Given the description of an element on the screen output the (x, y) to click on. 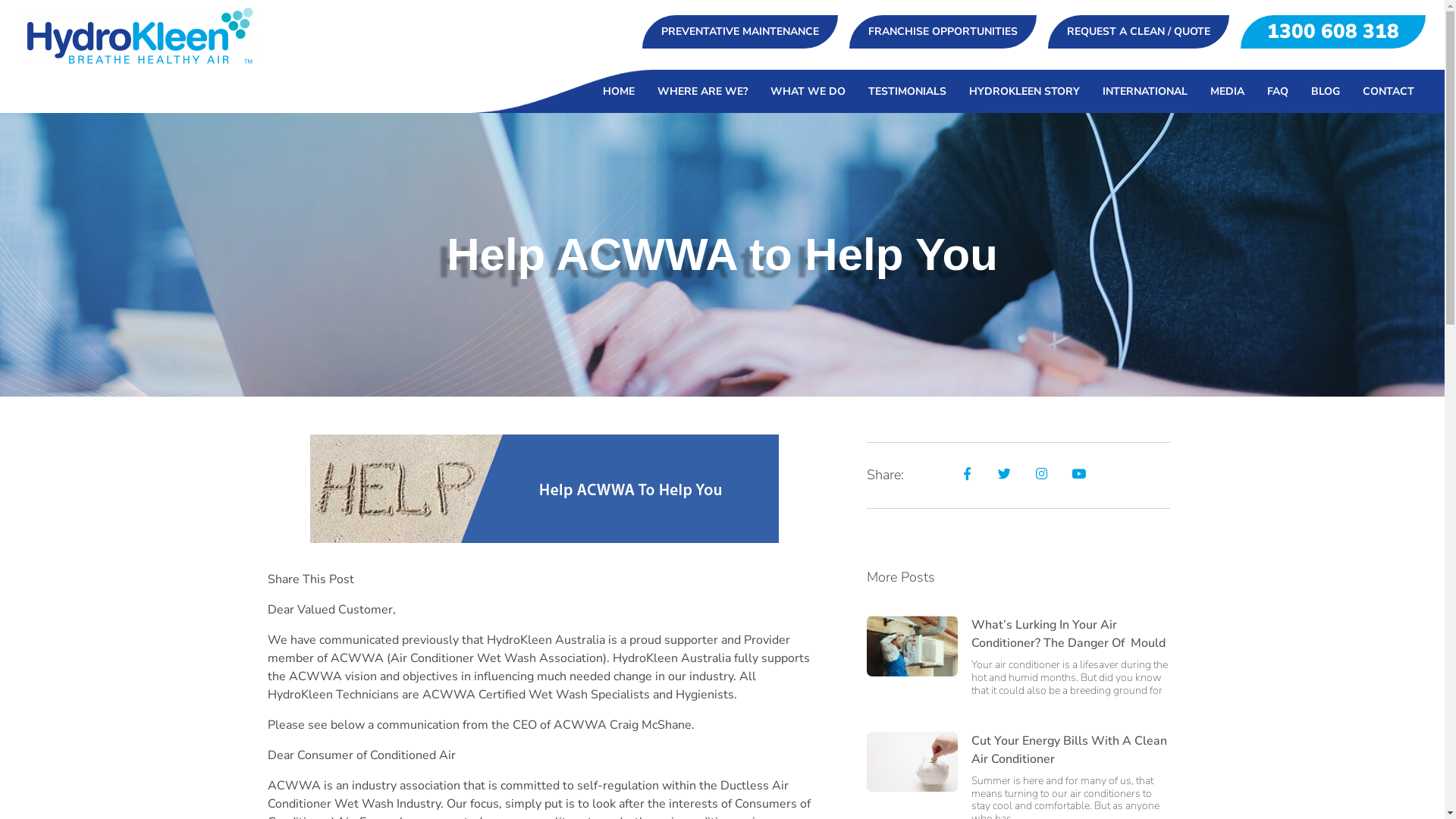
HOME Element type: text (618, 91)
FRANCHISE OPPORTUNITIES Element type: text (942, 31)
REQUEST A CLEAN / QUOTE Element type: text (1138, 31)
INTERNATIONAL Element type: text (1144, 91)
Cut Your Energy Bills With A Clean Air Conditioner Element type: text (1068, 749)
WHAT WE DO Element type: text (807, 91)
CONTACT Element type: text (1388, 91)
WHERE ARE WE? Element type: text (702, 91)
BLOG Element type: text (1325, 91)
MEDIA Element type: text (1226, 91)
PREVENTATIVE MAINTENANCE Element type: text (739, 31)
FAQ Element type: text (1277, 91)
HydroKleen Logo Hi Resolution Element type: hover (139, 35)
1300 608 318 Element type: text (1332, 31)
HYDROKLEEN STORY Element type: text (1024, 91)
Facebook-f Element type: text (967, 473)
TESTIMONIALS Element type: text (906, 91)
Youtube Element type: text (1078, 473)
Twitter Element type: text (1003, 473)
Instagram Element type: text (1041, 473)
